Given the description of an element on the screen output the (x, y) to click on. 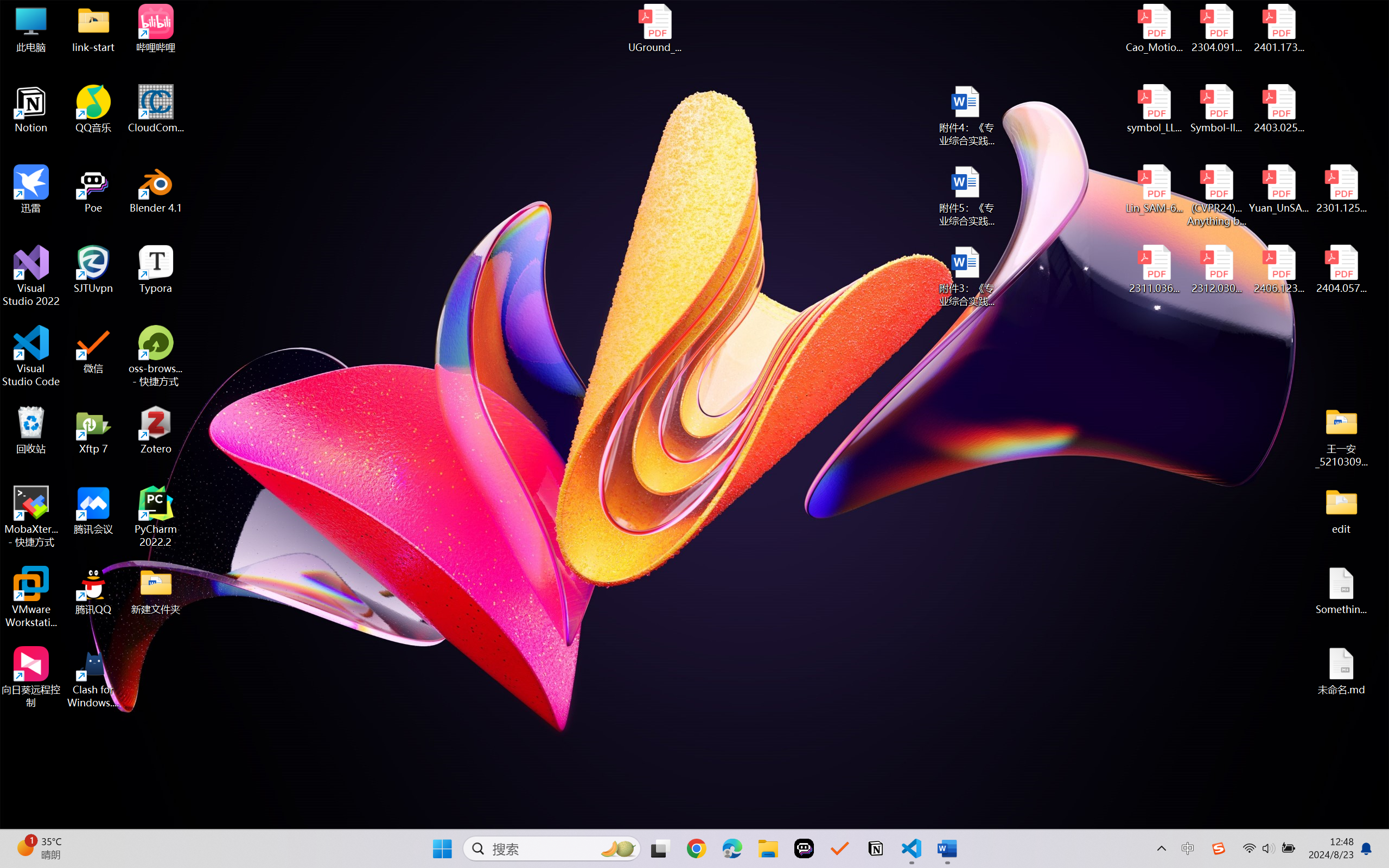
Blender 4.1 (156, 189)
2403.02502v1.pdf (1278, 109)
Typora (156, 269)
Xftp 7 (93, 430)
Symbol-llm-v2.pdf (1216, 109)
2312.03032v2.pdf (1216, 269)
2404.05719v1.pdf (1340, 269)
